Given the description of an element on the screen output the (x, y) to click on. 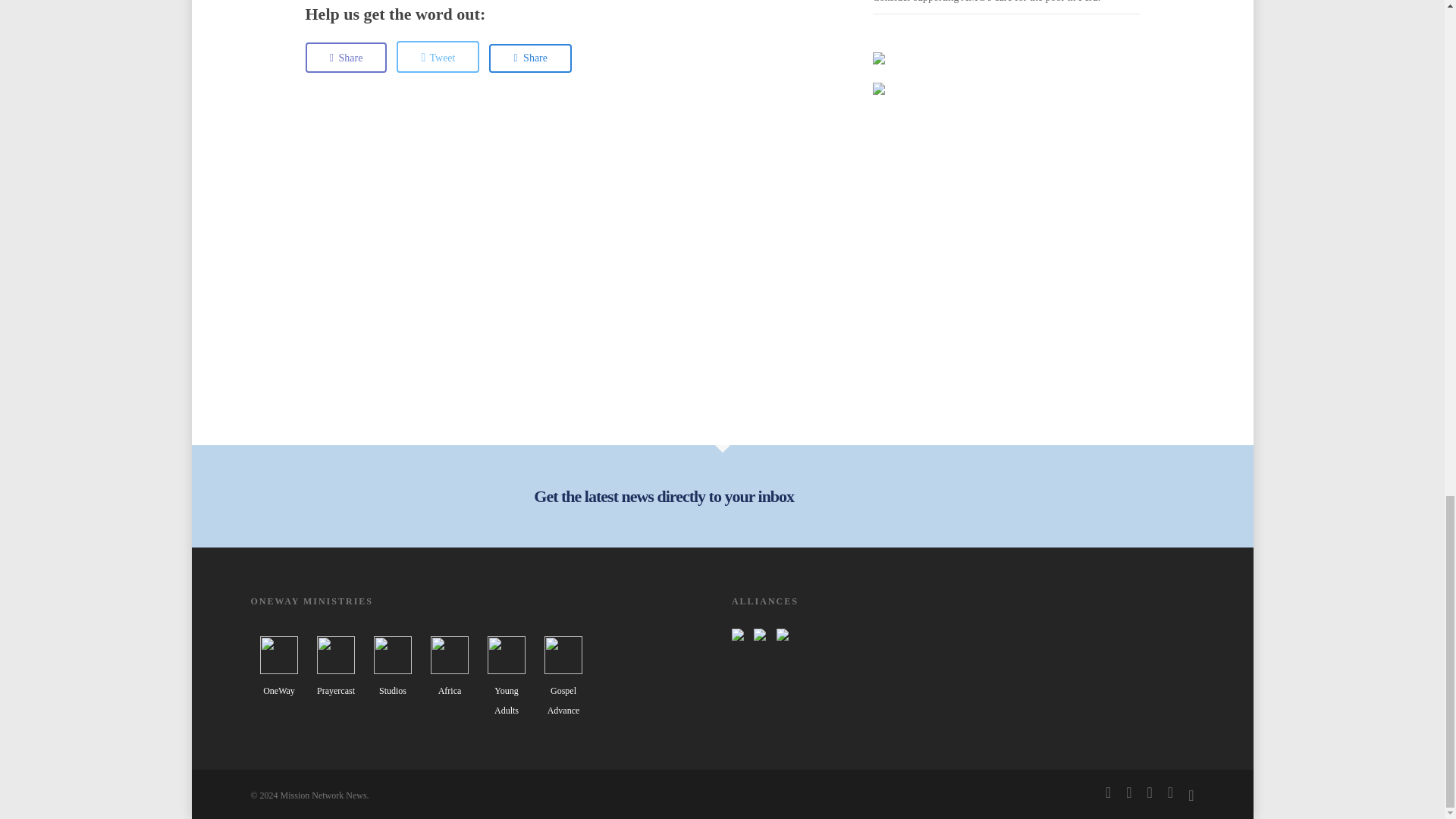
Share this (345, 57)
Tweet this (437, 56)
Share this (530, 58)
